Given the description of an element on the screen output the (x, y) to click on. 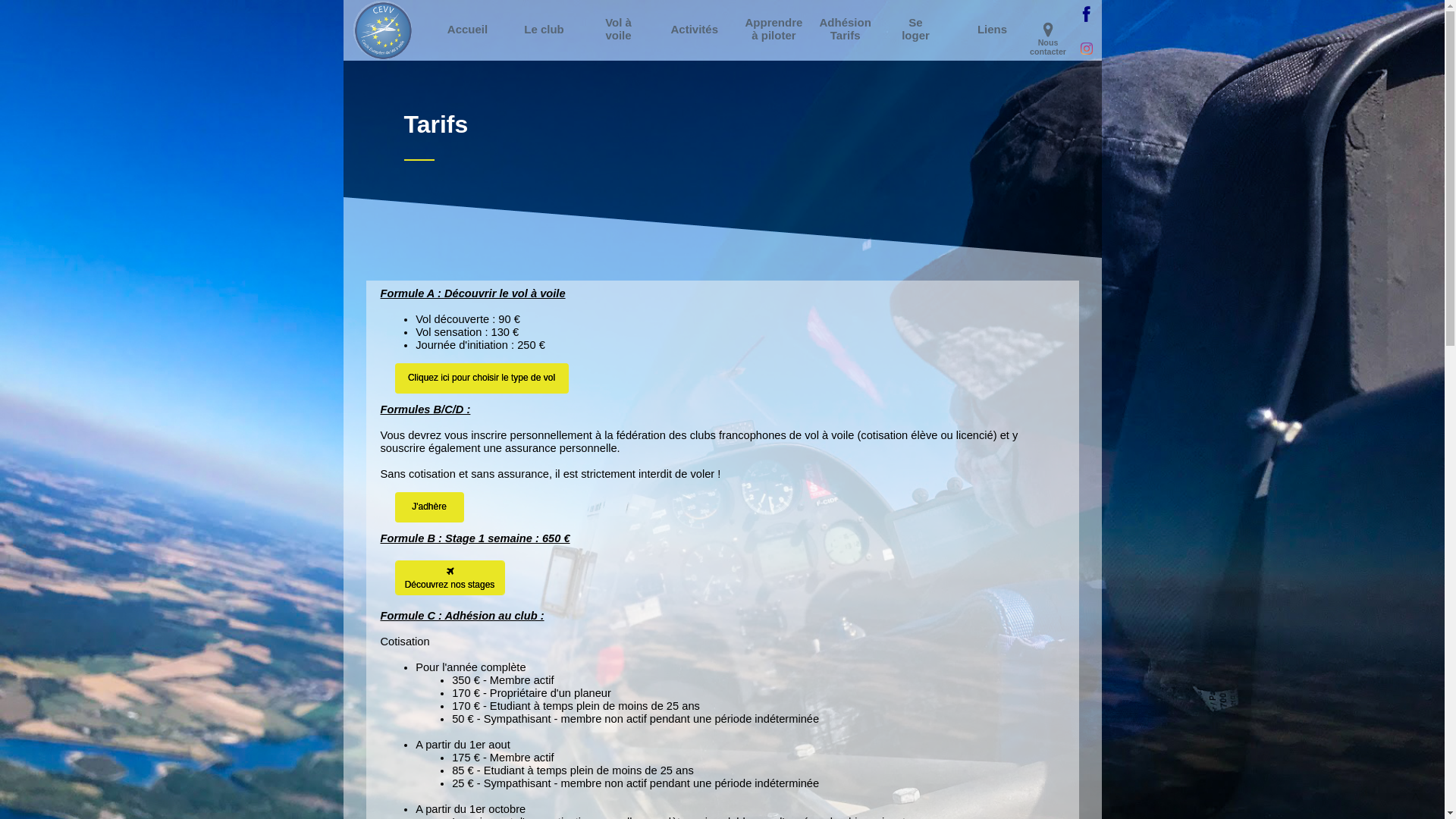
Liens Element type: text (992, 28)
Le club Element type: text (544, 28)
Accueil Element type: text (467, 28)
Cliquez ici pour choisir le type de vol Element type: text (480, 378)
Se loger Element type: text (915, 28)
Logo du club CEVV Element type: hover (382, 30)
